Given the description of an element on the screen output the (x, y) to click on. 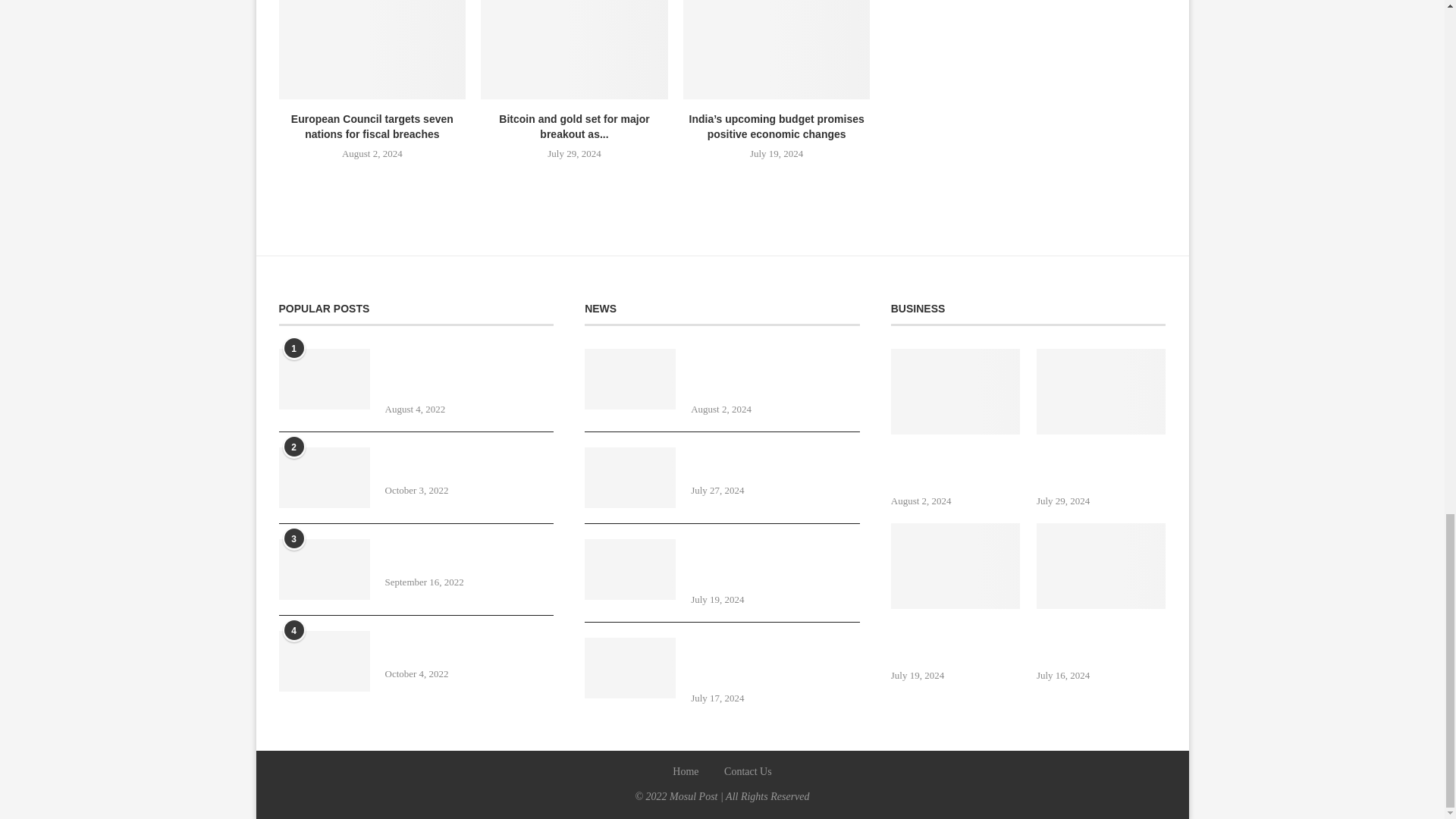
European Council targets seven nations for fiscal breaches (372, 49)
Bitcoin and gold set for major breakout as... (574, 126)
European Council targets seven nations for fiscal breaches (371, 126)
